Given the description of an element on the screen output the (x, y) to click on. 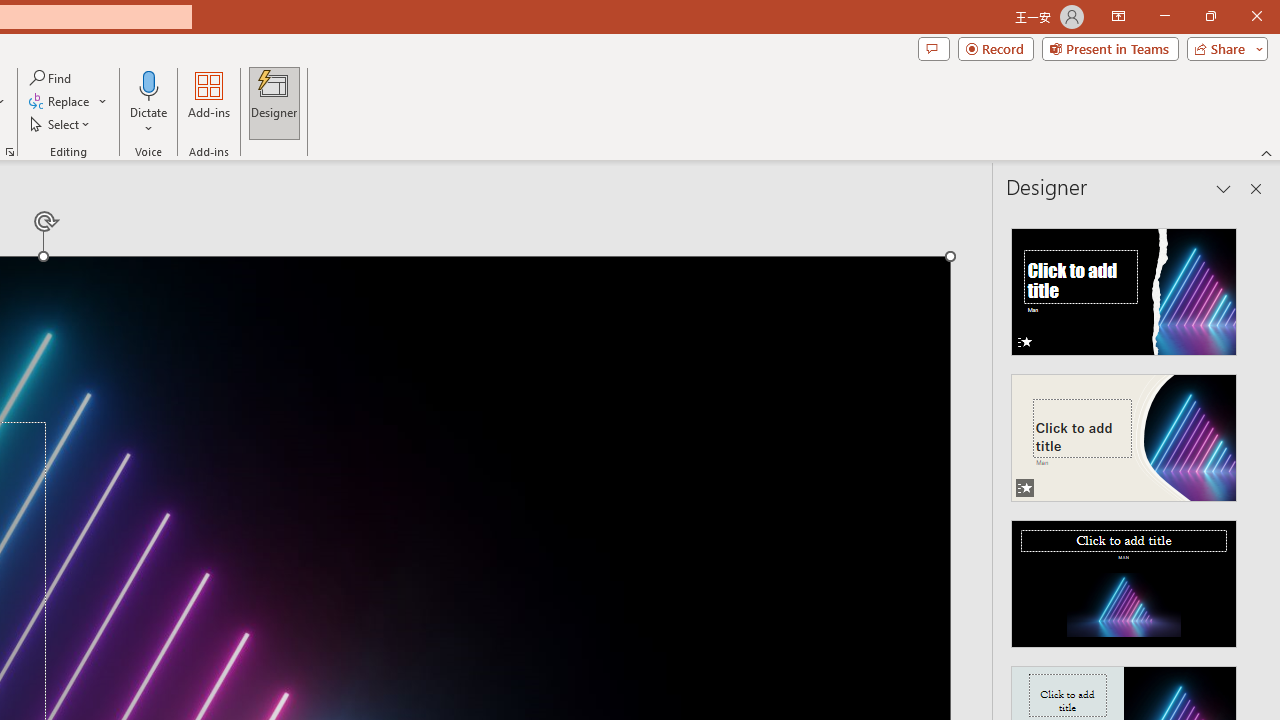
Design Idea (1124, 577)
